Given the description of an element on the screen output the (x, y) to click on. 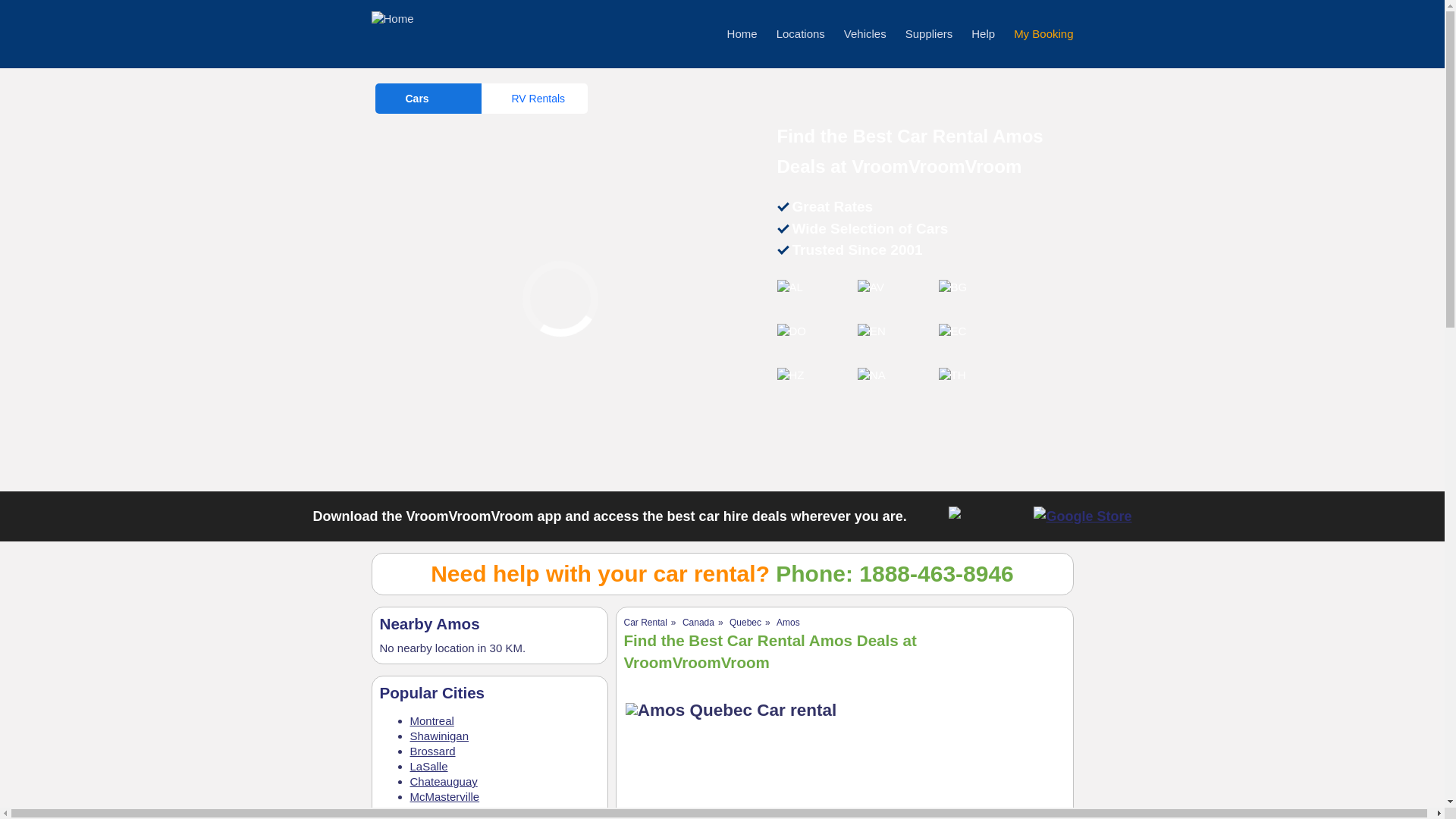
Home (741, 33)
LaSalle (427, 766)
Cars (427, 98)
Chateauguay (443, 780)
Google App (1082, 516)
Help (982, 33)
Suppliers (929, 33)
McMasterville (444, 796)
Locations (800, 33)
Brossard (431, 750)
